Given the description of an element on the screen output the (x, y) to click on. 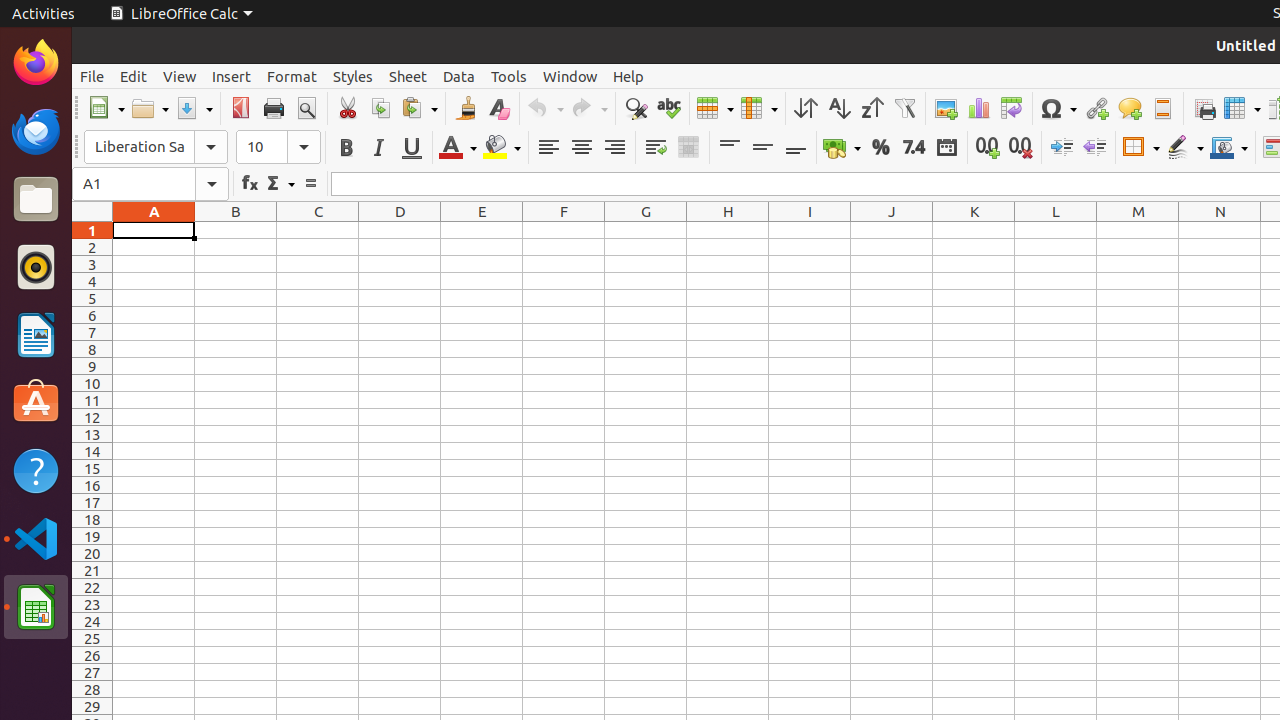
Window Element type: menu (570, 76)
Name Box Element type: combo-box (150, 184)
Border Style Element type: push-button (1185, 147)
LibreOffice Writer Element type: push-button (36, 334)
Number Element type: push-button (913, 147)
